Given the description of an element on the screen output the (x, y) to click on. 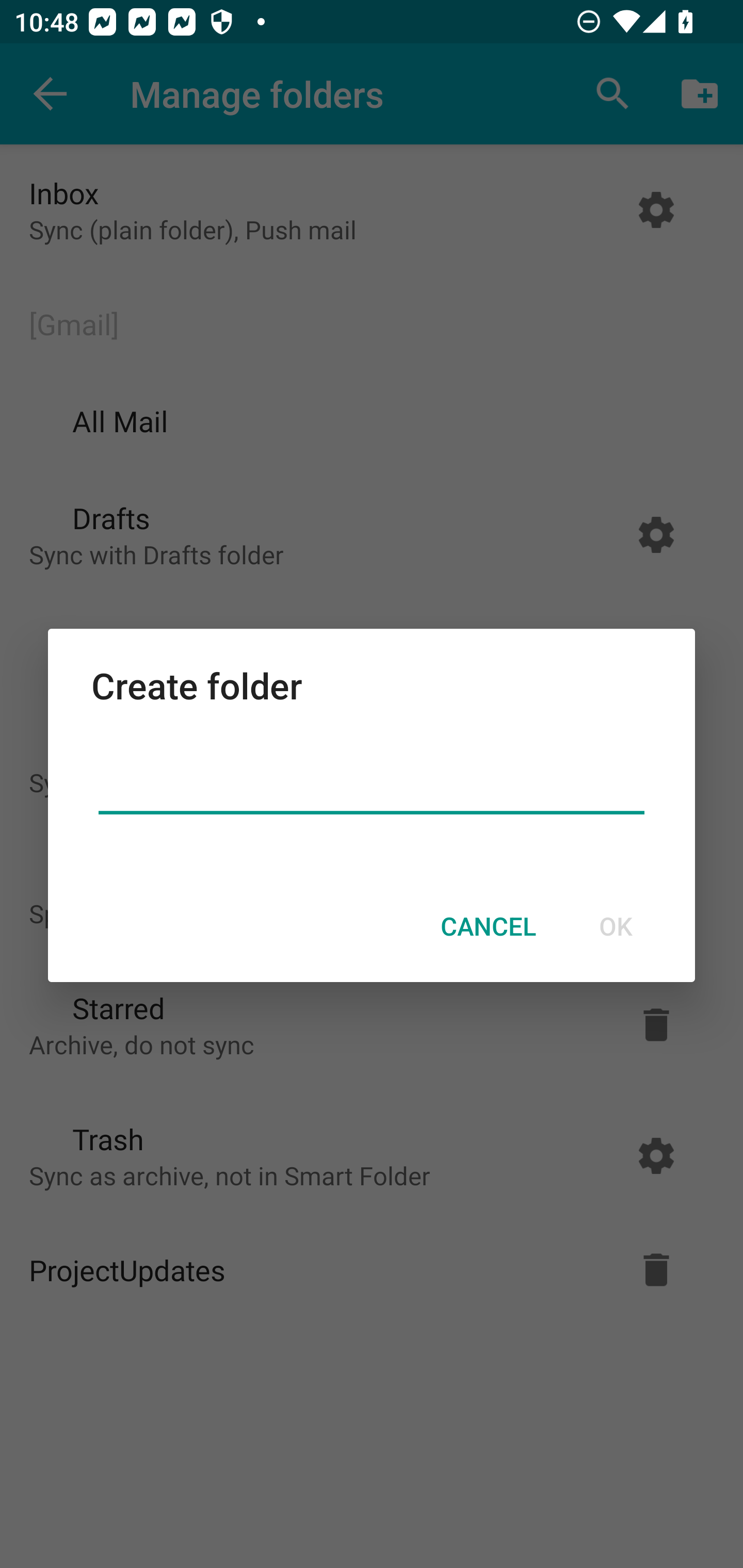
CANCEL (488, 926)
OK (615, 926)
